Given the description of an element on the screen output the (x, y) to click on. 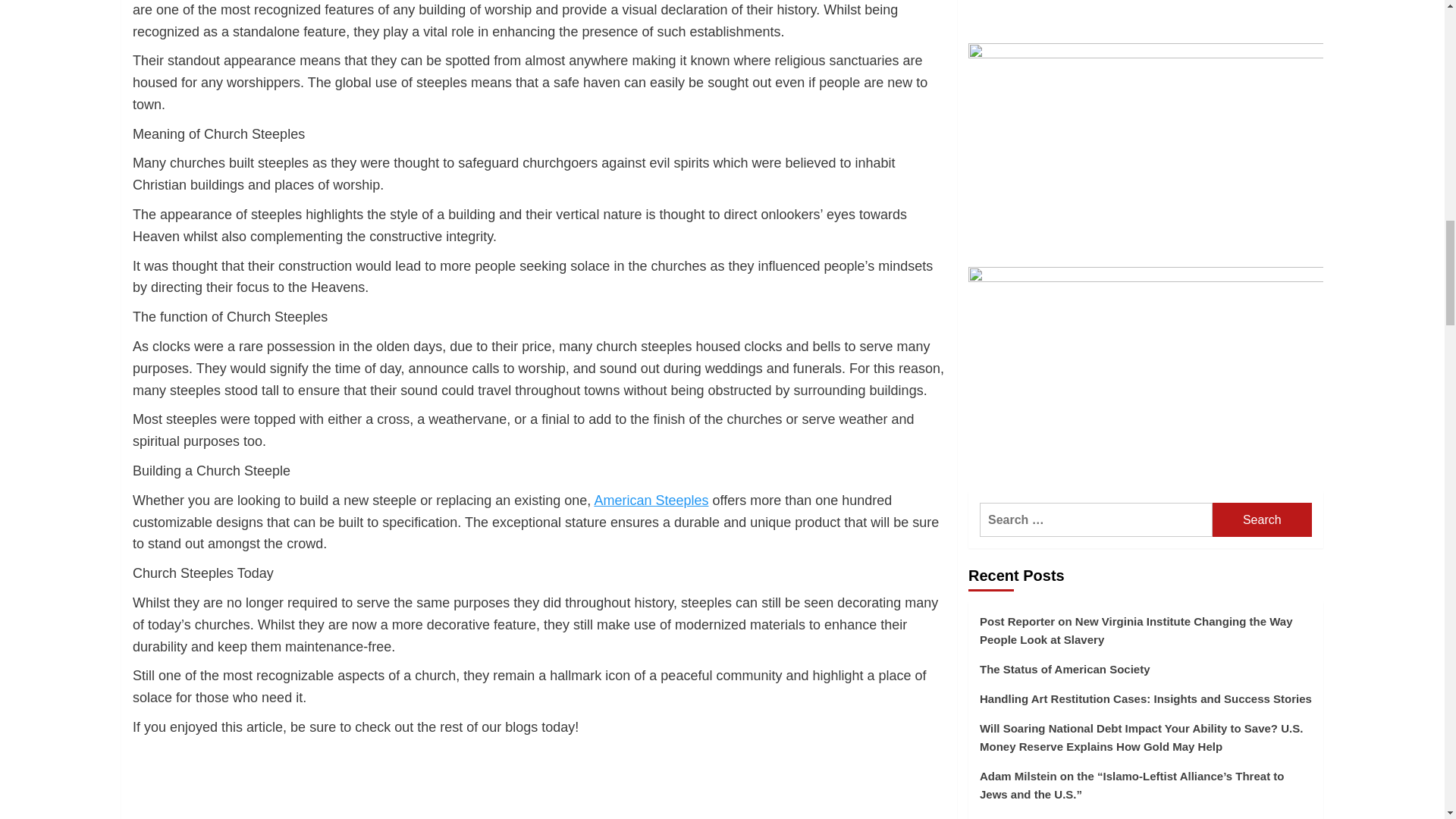
American Steeples (650, 500)
Search (1261, 519)
Search (1261, 519)
